Given the description of an element on the screen output the (x, y) to click on. 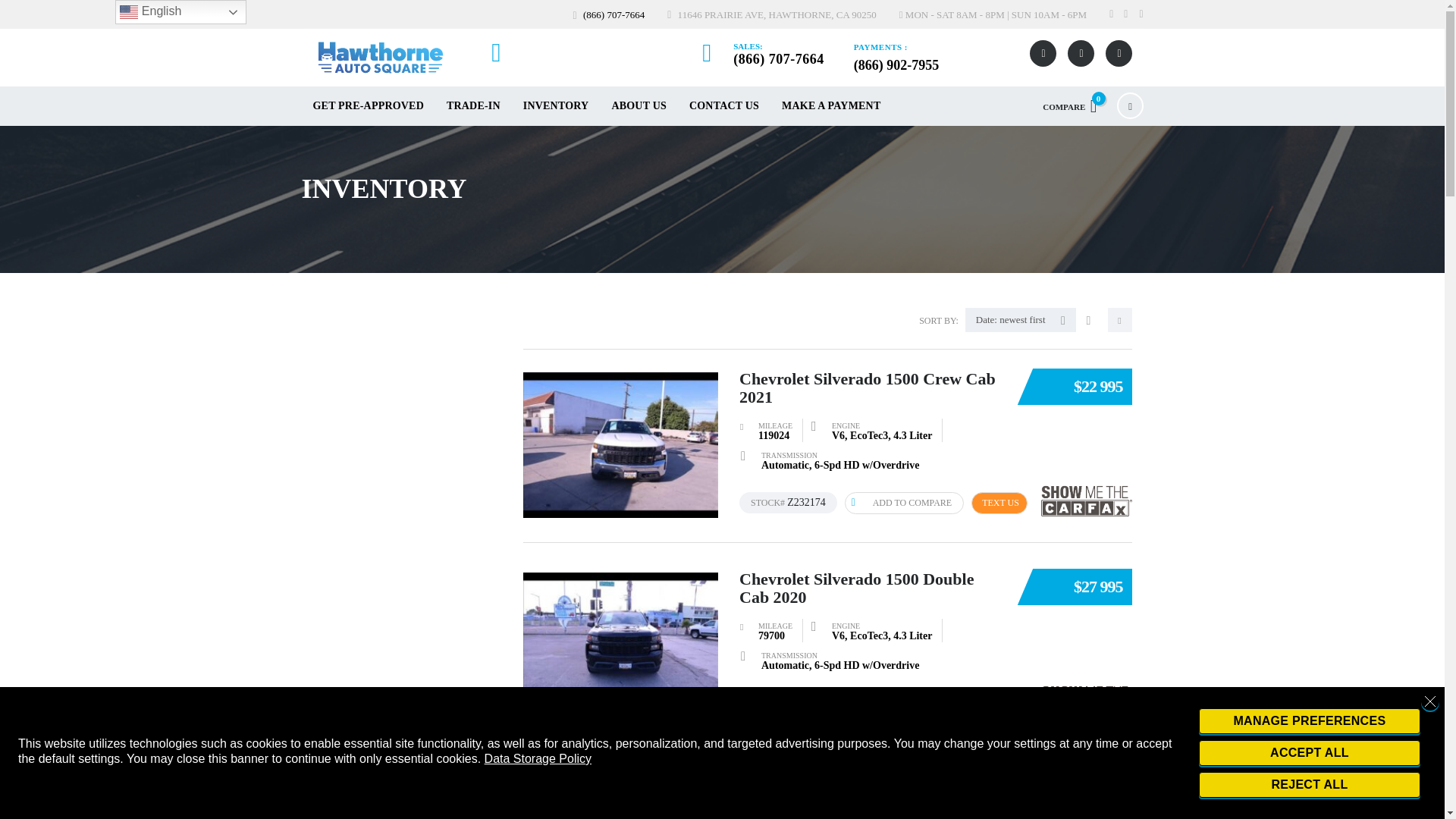
MANAGE PREFERENCES (1309, 720)
REJECT ALL (1309, 784)
Data Storage Policy (537, 758)
Home (380, 57)
ACCEPT ALL (1309, 752)
